Given the description of an element on the screen output the (x, y) to click on. 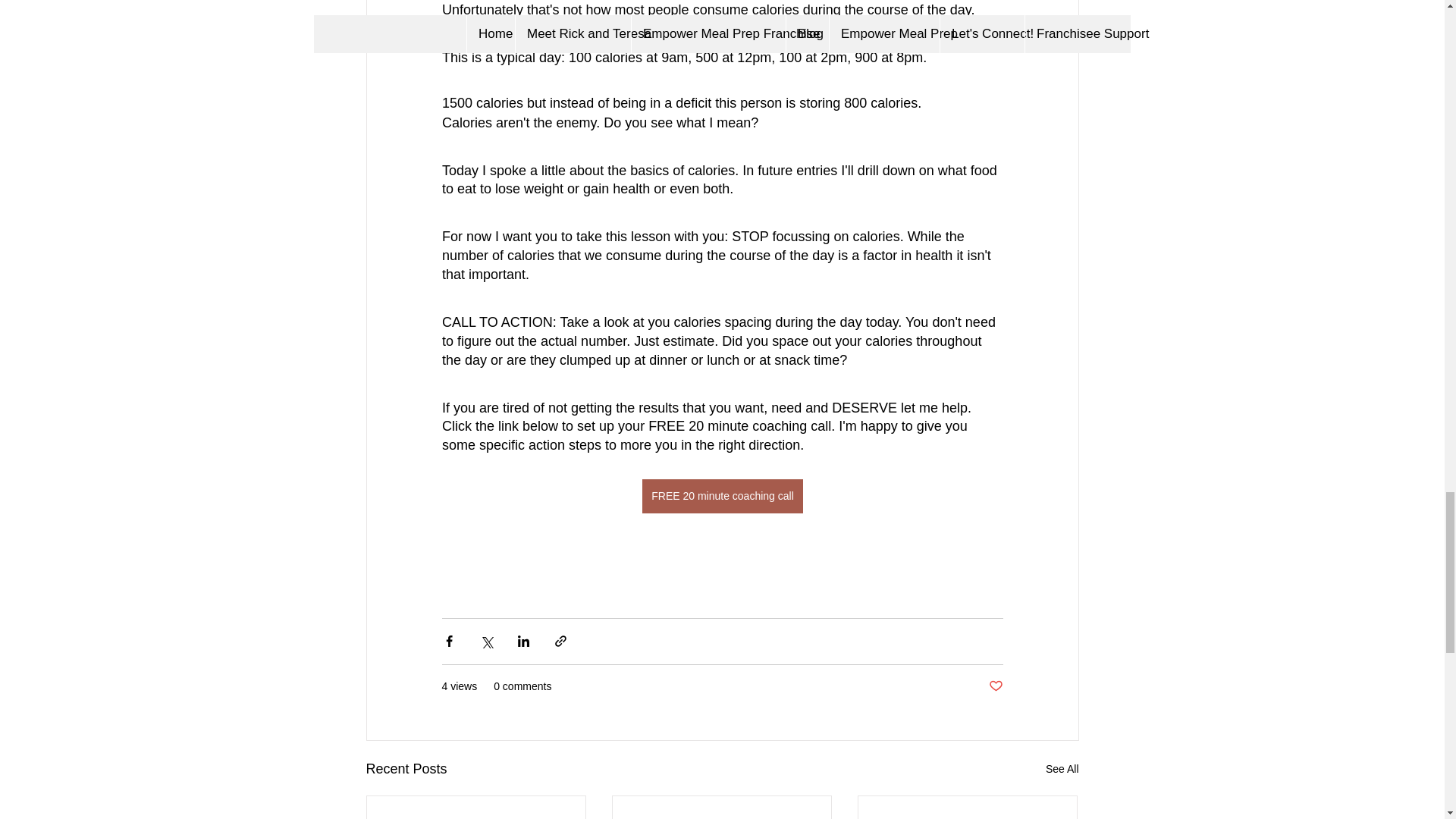
FREE 20 minute coaching call (722, 496)
See All (1061, 769)
Post not marked as liked (995, 686)
